Given the description of an element on the screen output the (x, y) to click on. 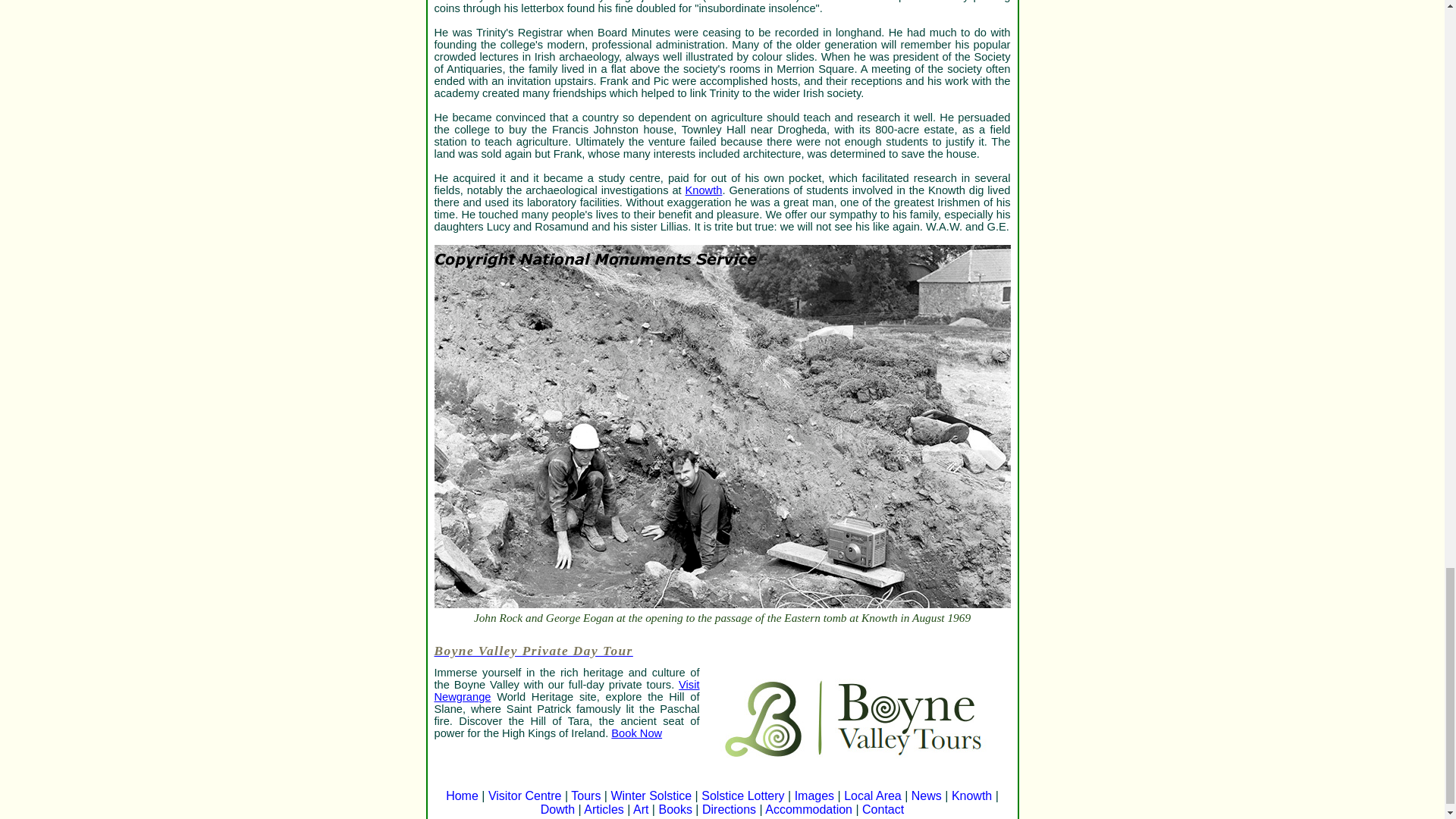
Visitor Centre (524, 795)
Knowth (703, 190)
Book Now (636, 733)
Boyne Valley Private Day Tour (721, 657)
Tours (584, 795)
Home (462, 795)
Visit Newgrange (565, 690)
